Given the description of an element on the screen output the (x, y) to click on. 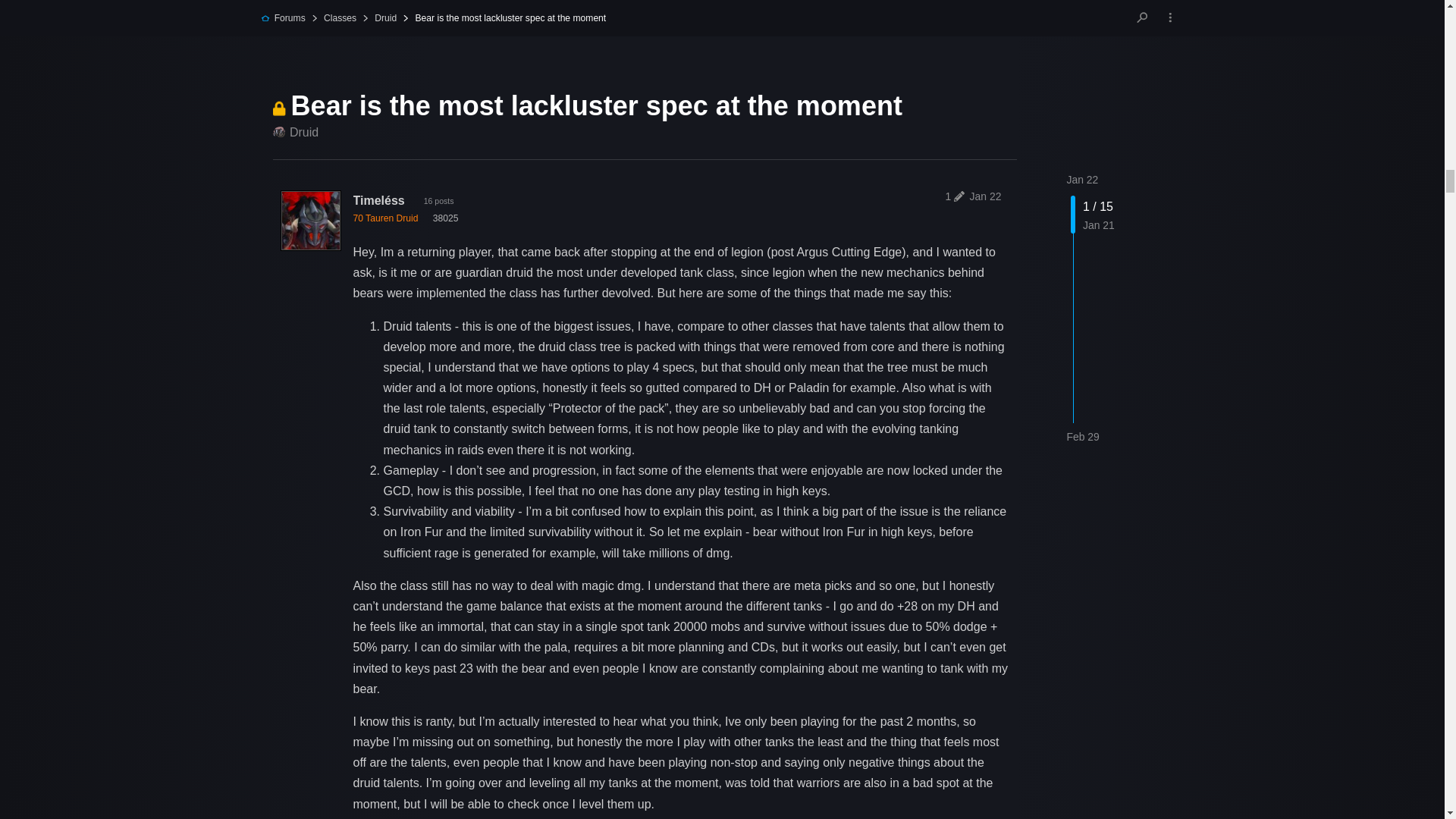
Jan 22 (985, 196)
Post date (985, 196)
Jan 22 (1081, 179)
Jan 22 (1081, 179)
Druid (295, 132)
1 (952, 196)
post last edited on (952, 196)
Bear is the most lackluster spec at the moment (596, 105)
This topic is closed; it no longer accepts new replies (278, 107)
Feb 29, 2024 12:18 am (1082, 436)
Feb 29 (1082, 437)
